Given the description of an element on the screen output the (x, y) to click on. 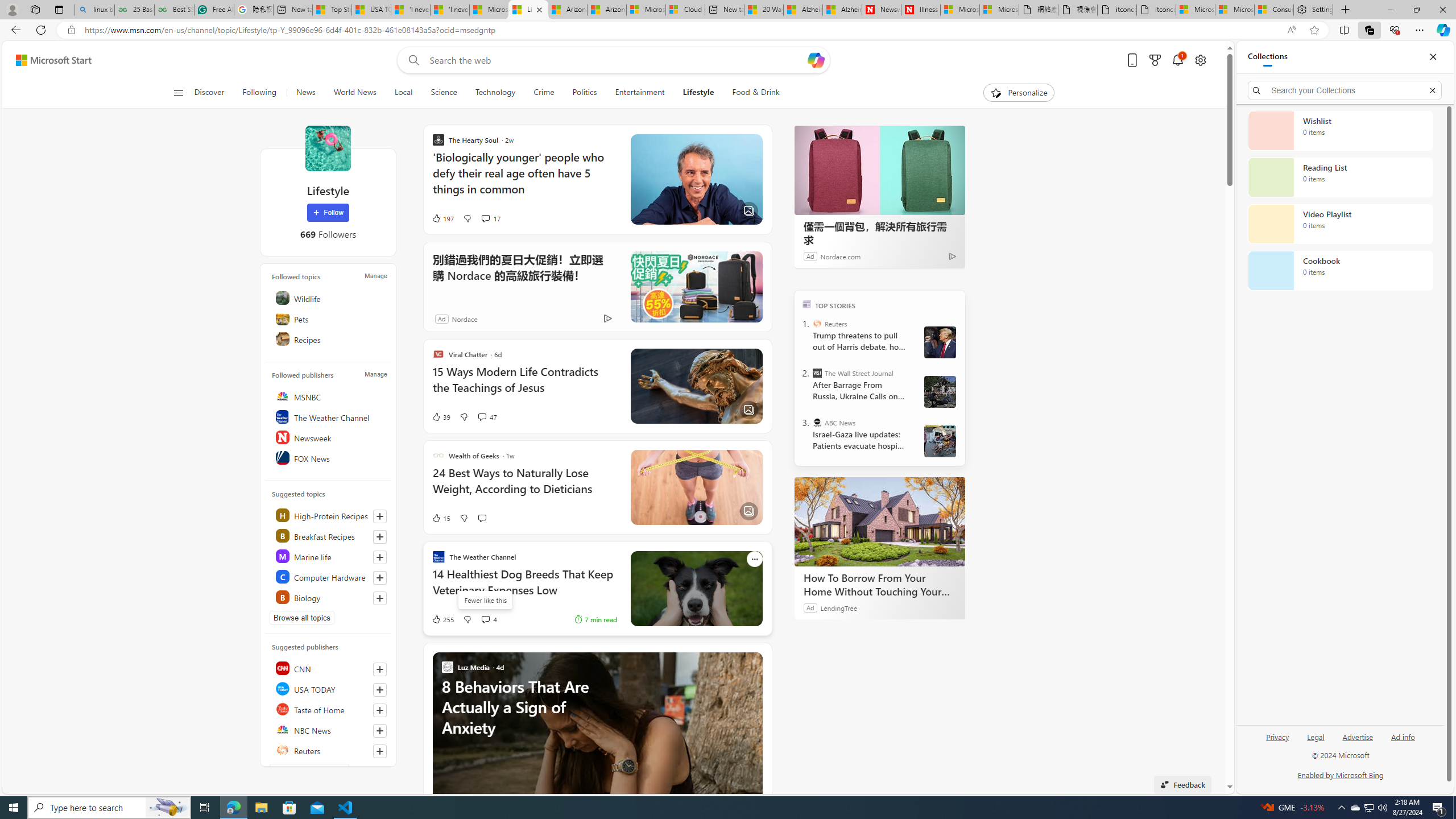
Newsweek (328, 437)
NBC News (328, 729)
Follow this source (379, 751)
Class: button-glyph (178, 92)
View comments 17 Comment (490, 218)
